Given the description of an element on the screen output the (x, y) to click on. 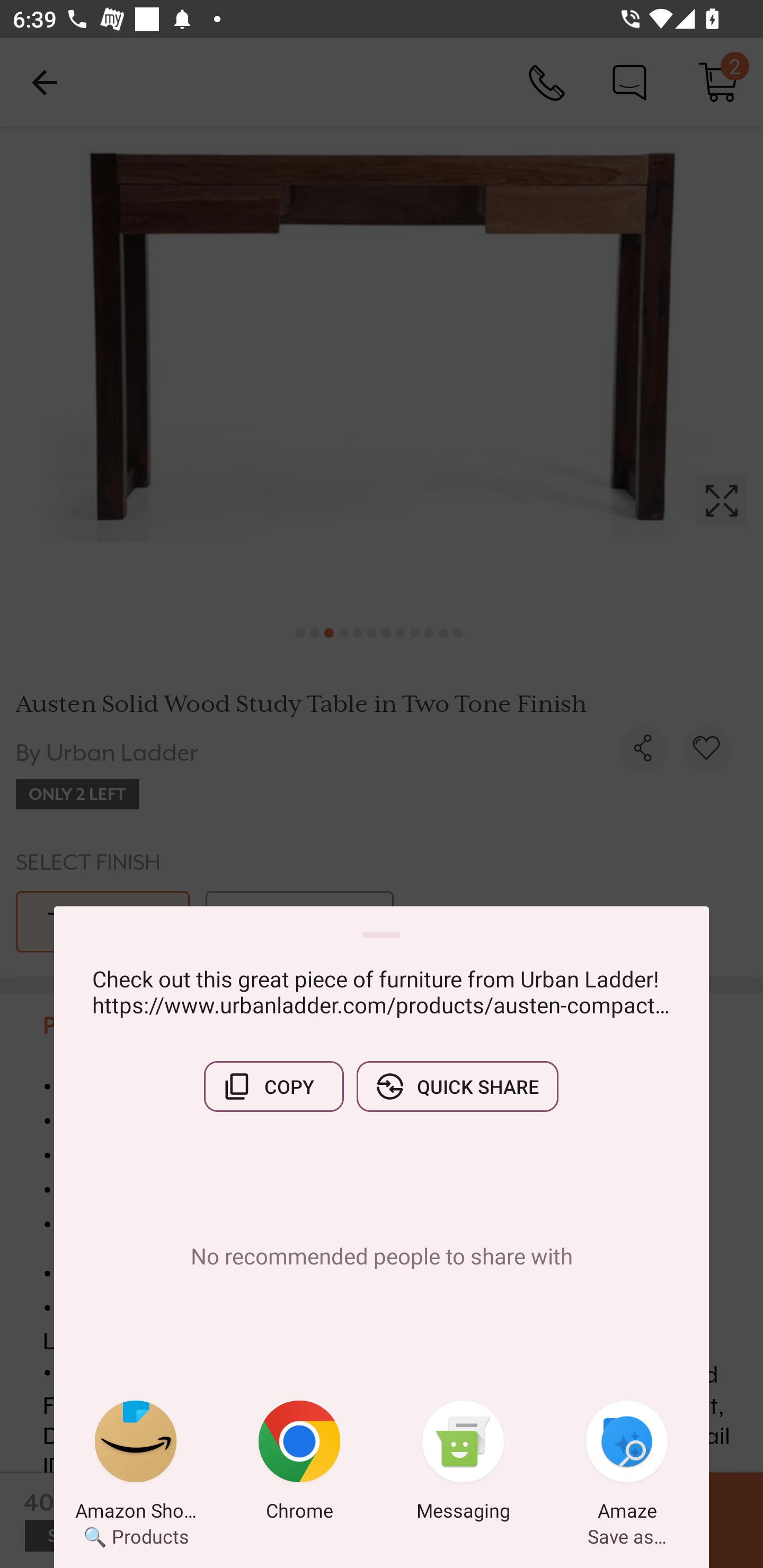
COPY (273, 1086)
QUICK SHARE (457, 1086)
Amazon Shopping 🔍 Products (135, 1463)
Chrome (299, 1463)
Messaging (463, 1463)
Amaze Save as… (626, 1463)
